Given the description of an element on the screen output the (x, y) to click on. 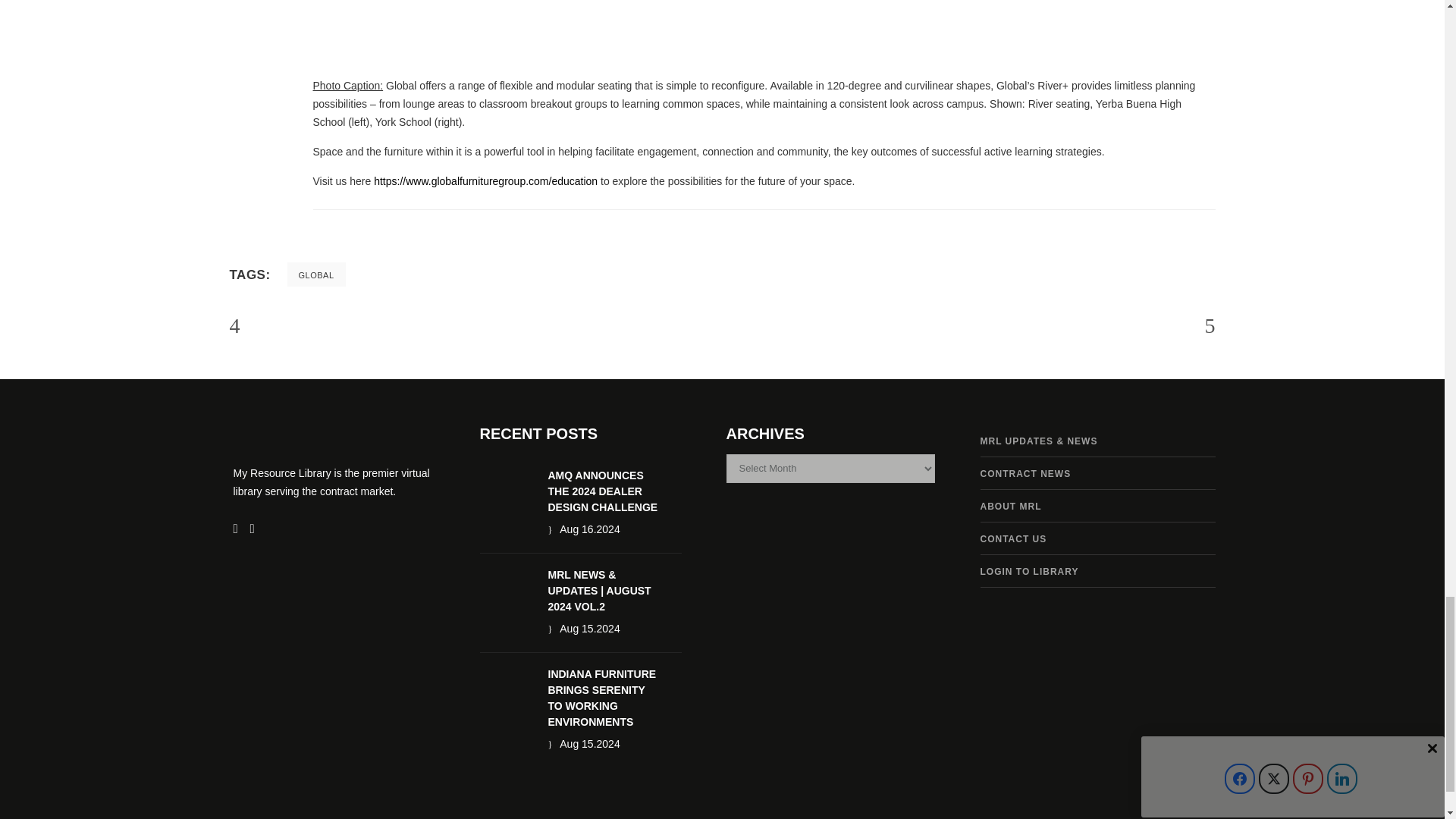
ABOUT MRL (1010, 506)
LOGIN TO LIBRARY (1028, 571)
GLOBAL (316, 274)
AMQ ANNOUNCES THE 2024 DEALER DESIGN CHALLENGE (602, 491)
INDIANA FURNITURE BRINGS SERENITY TO WORKING ENVIRONMENTS (601, 698)
CONTRACT NEWS (1024, 473)
CONTACT US (1012, 539)
